Given the description of an element on the screen output the (x, y) to click on. 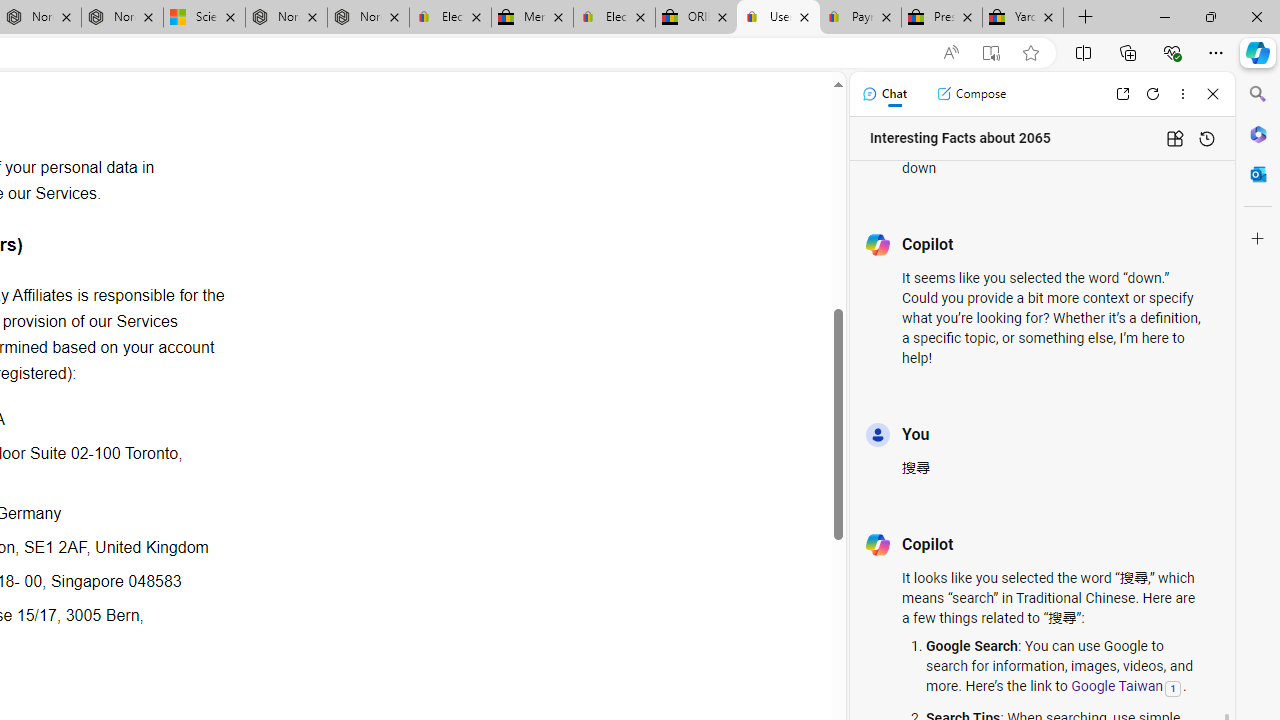
More options (1182, 93)
Add this page to favorites (Ctrl+D) (1030, 53)
